Given the description of an element on the screen output the (x, y) to click on. 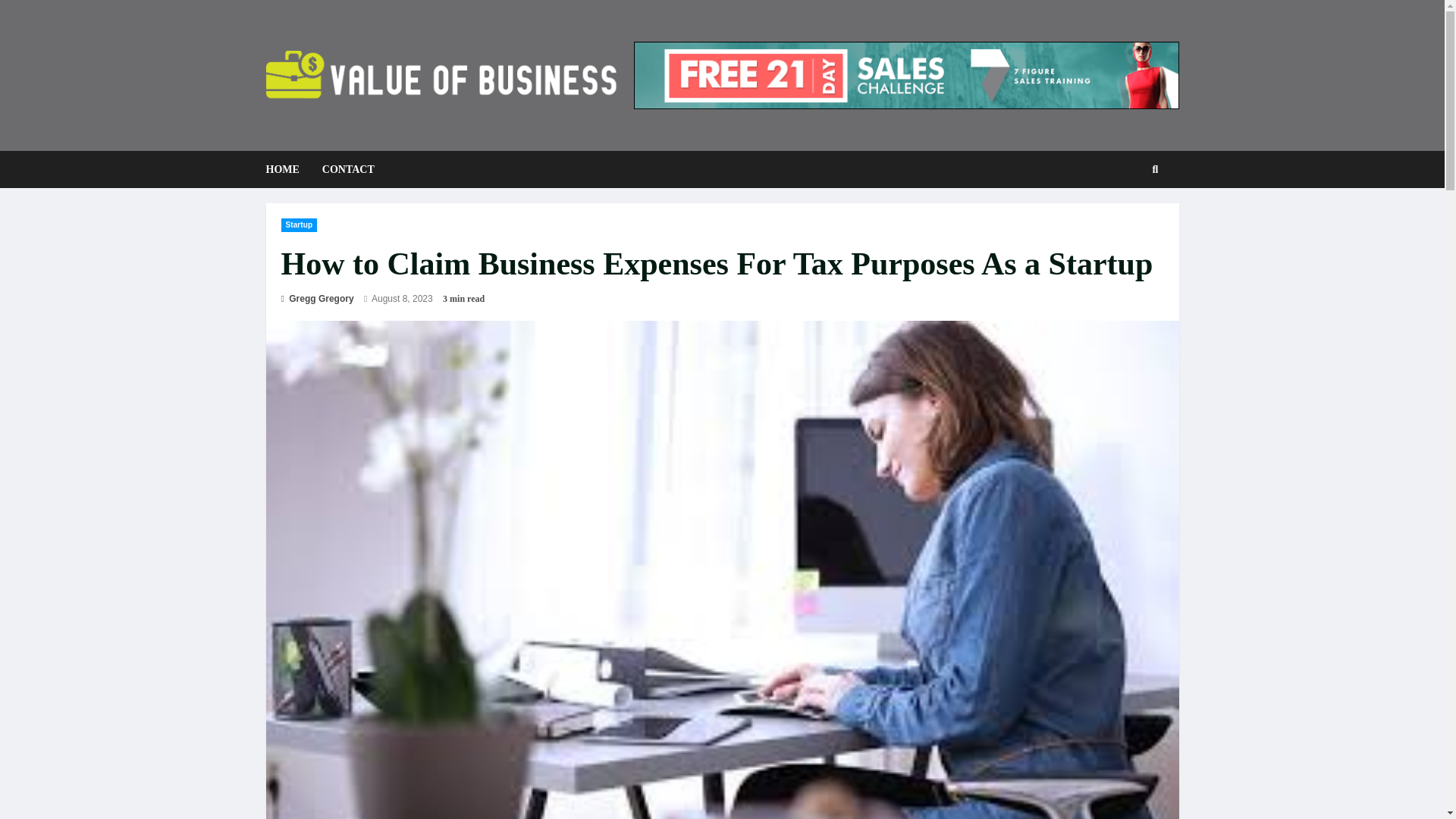
Gregg Gregory (317, 298)
HOME (287, 169)
CONTACT (342, 169)
Search (1131, 221)
Startup (299, 224)
